Given the description of an element on the screen output the (x, y) to click on. 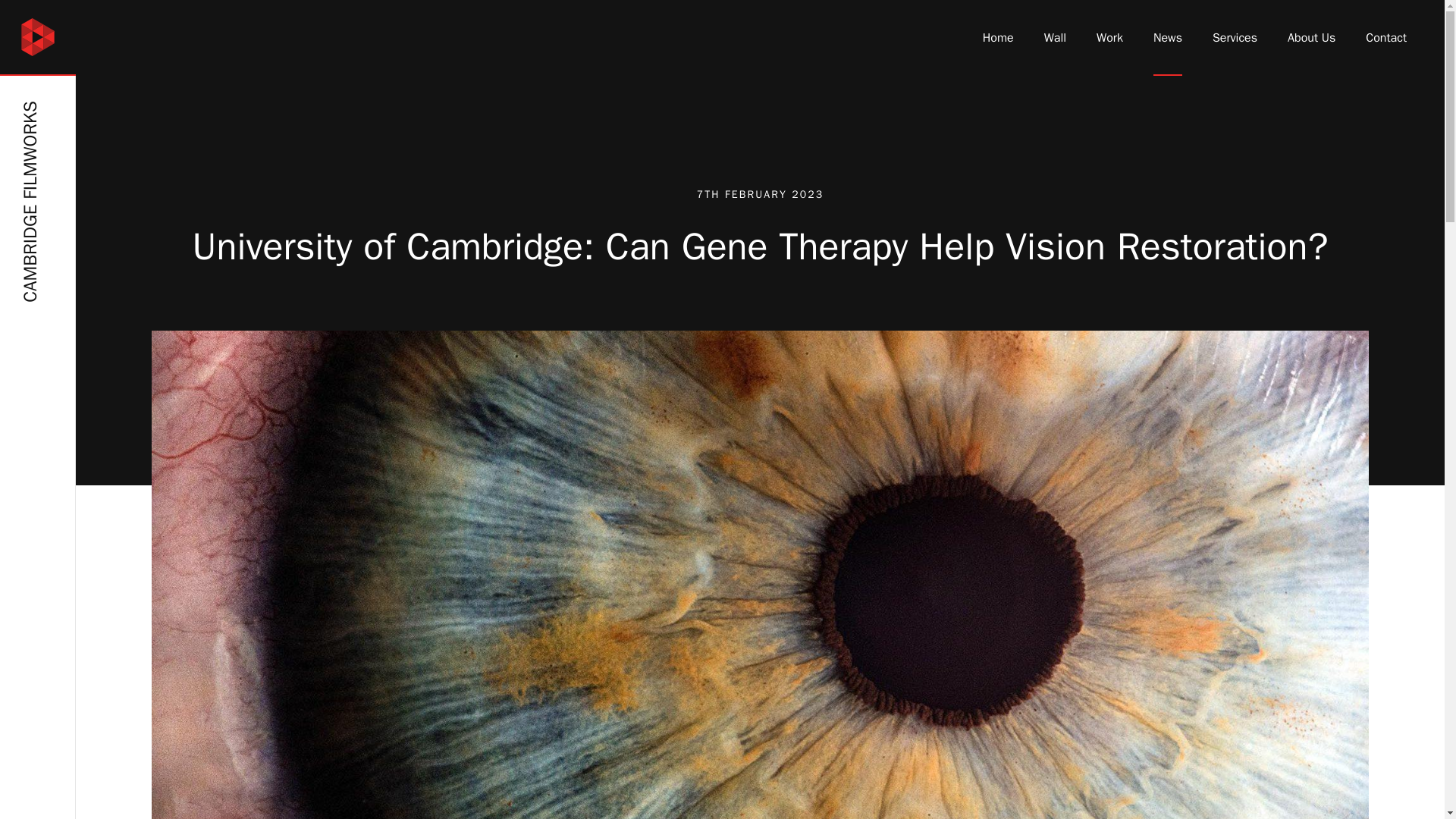
Home (997, 37)
About Us (1311, 37)
Wall (1054, 37)
Work (1109, 37)
Contact (1385, 37)
News (1167, 37)
Services (1234, 37)
